Given the description of an element on the screen output the (x, y) to click on. 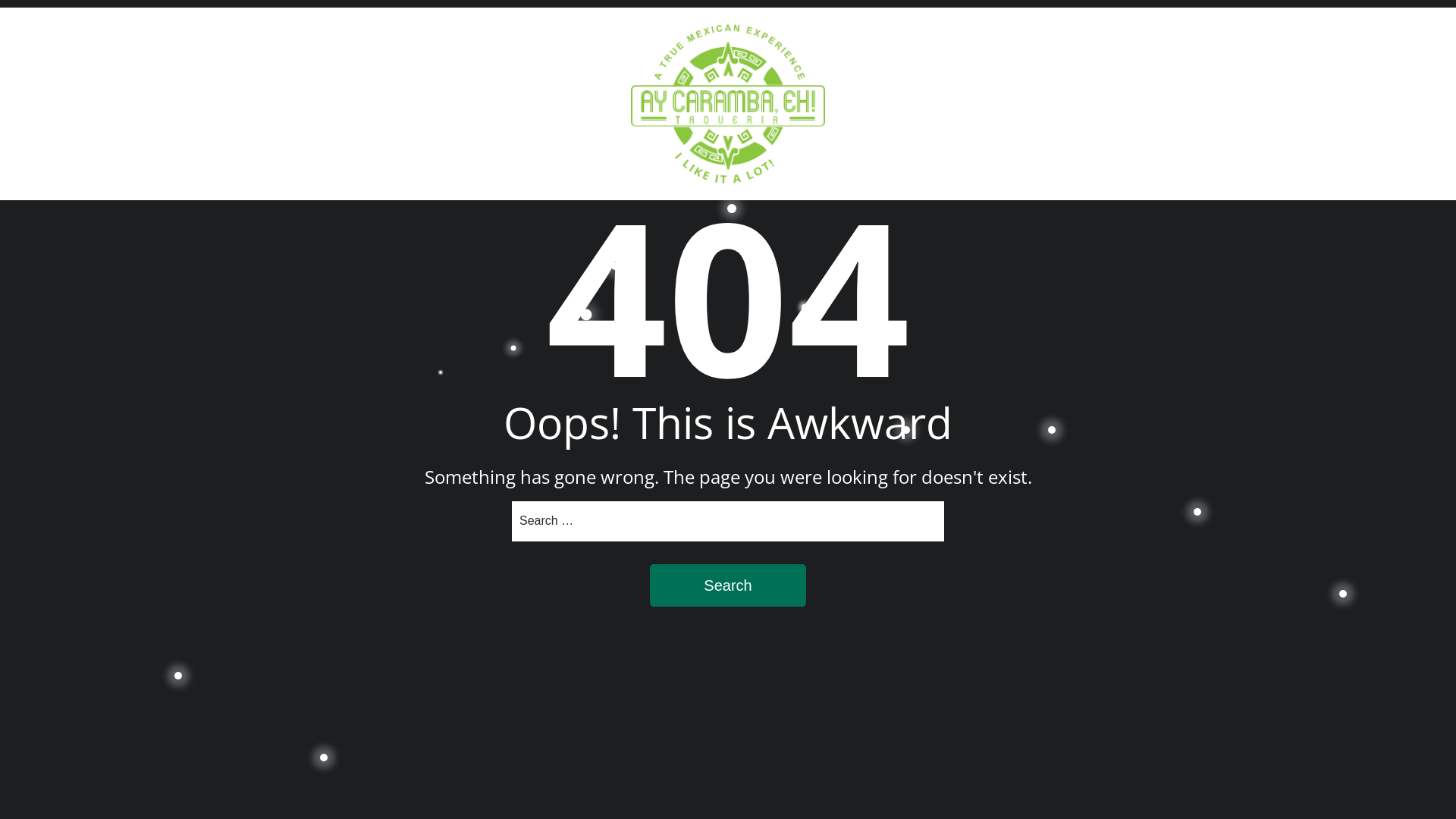
Search Element type: text (727, 585)
